Given the description of an element on the screen output the (x, y) to click on. 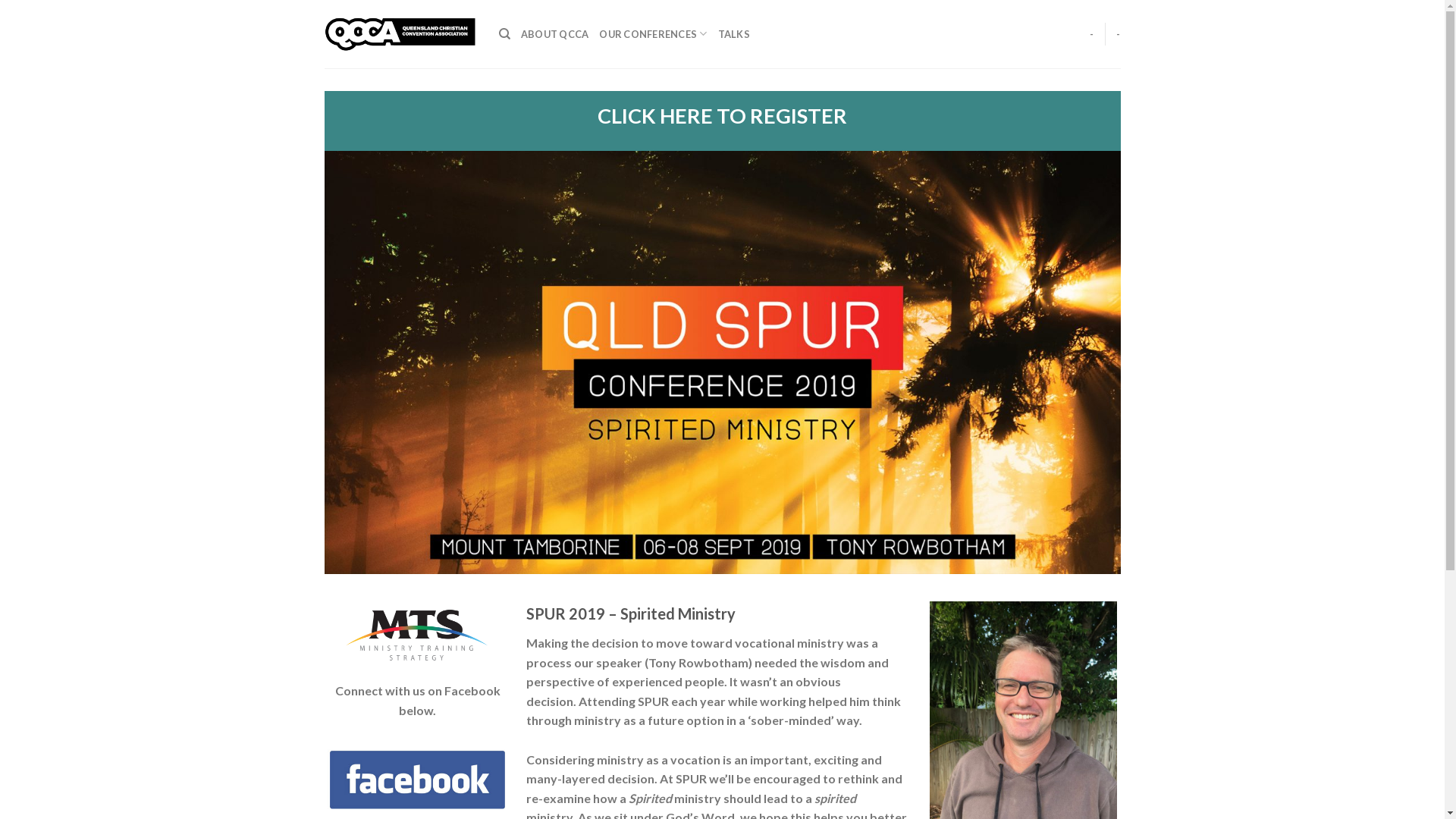
CLICK HERE TO REGISTER Element type: text (722, 115)
ABOUT QCCA Element type: text (554, 33)
TALKS Element type: text (733, 33)
- Element type: text (1118, 33)
- Element type: text (1091, 33)
QCCA - Queensland Christian Convention Association Element type: hover (400, 33)
OUR CONFERENCES Element type: text (652, 33)
